Given the description of an element on the screen output the (x, y) to click on. 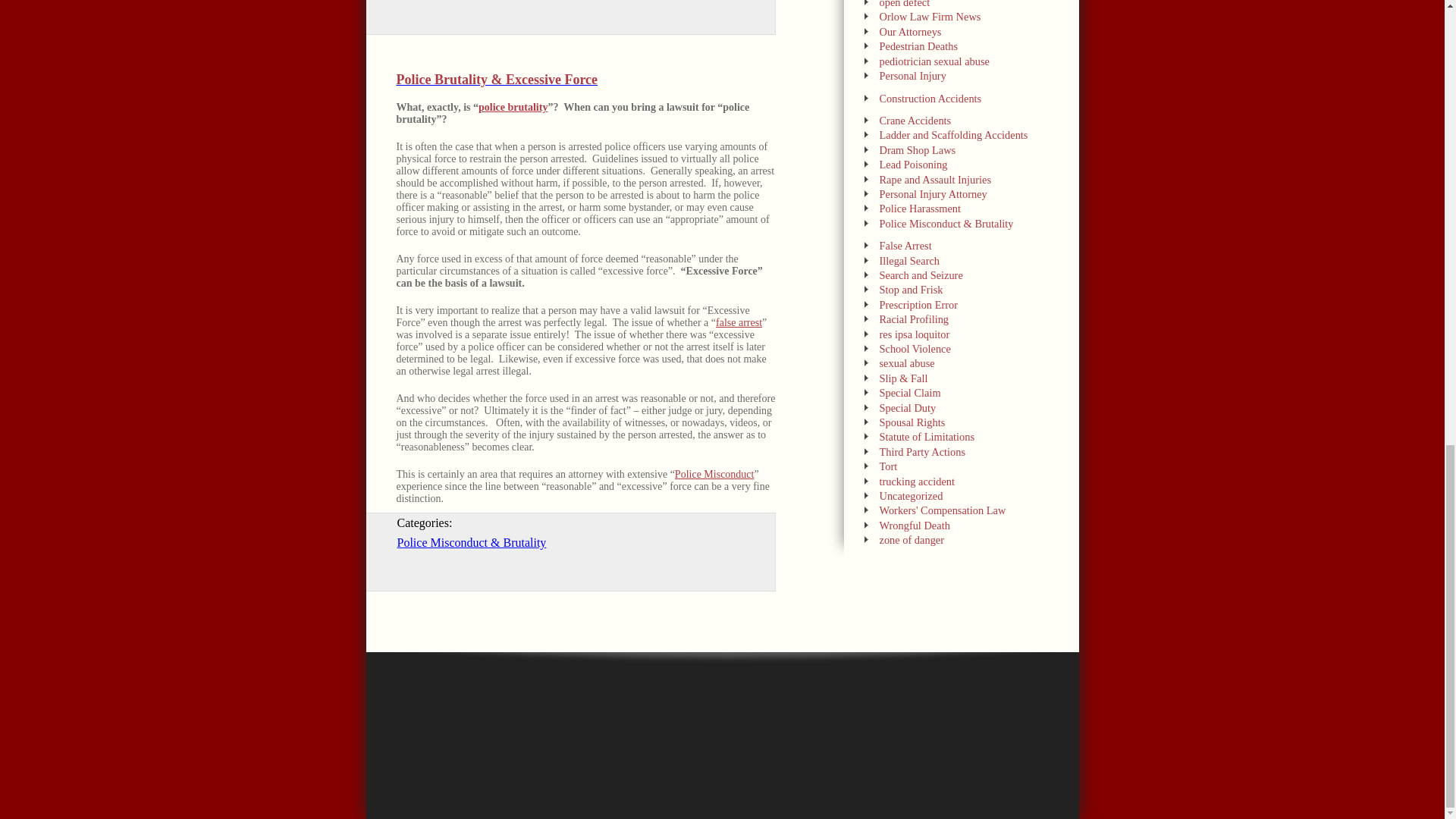
police brutality (513, 107)
Police Misconduct (714, 473)
false arrest (738, 322)
